Given the description of an element on the screen output the (x, y) to click on. 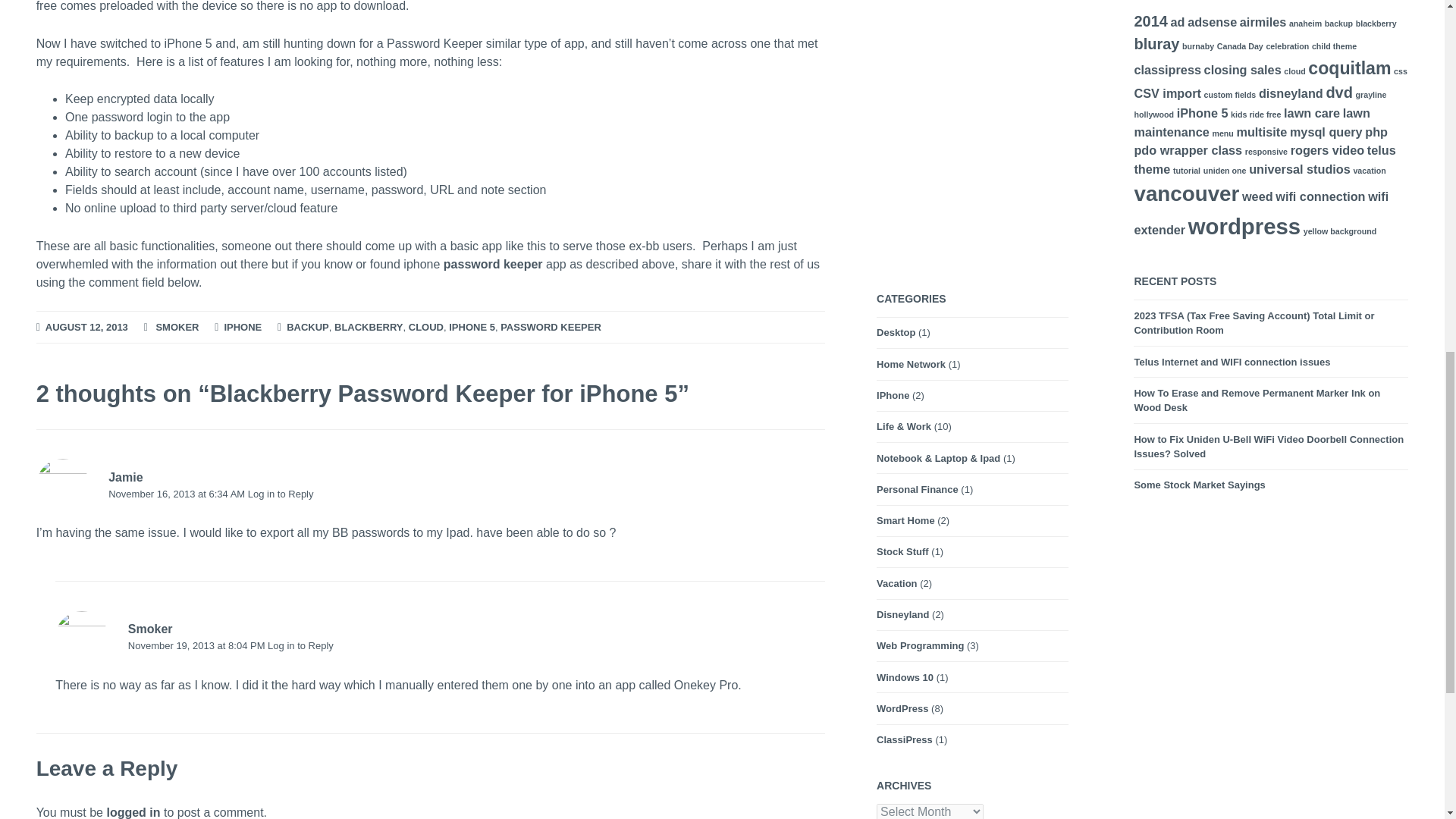
Personal Finance (917, 490)
Disneyland (902, 614)
WordPress (902, 708)
2014 (1150, 21)
Windows 10 (904, 677)
CLOUD (426, 327)
Home Network (910, 364)
BLACKBERRY (368, 327)
IPHONE 5 (471, 327)
IPHONE (243, 327)
